Given the description of an element on the screen output the (x, y) to click on. 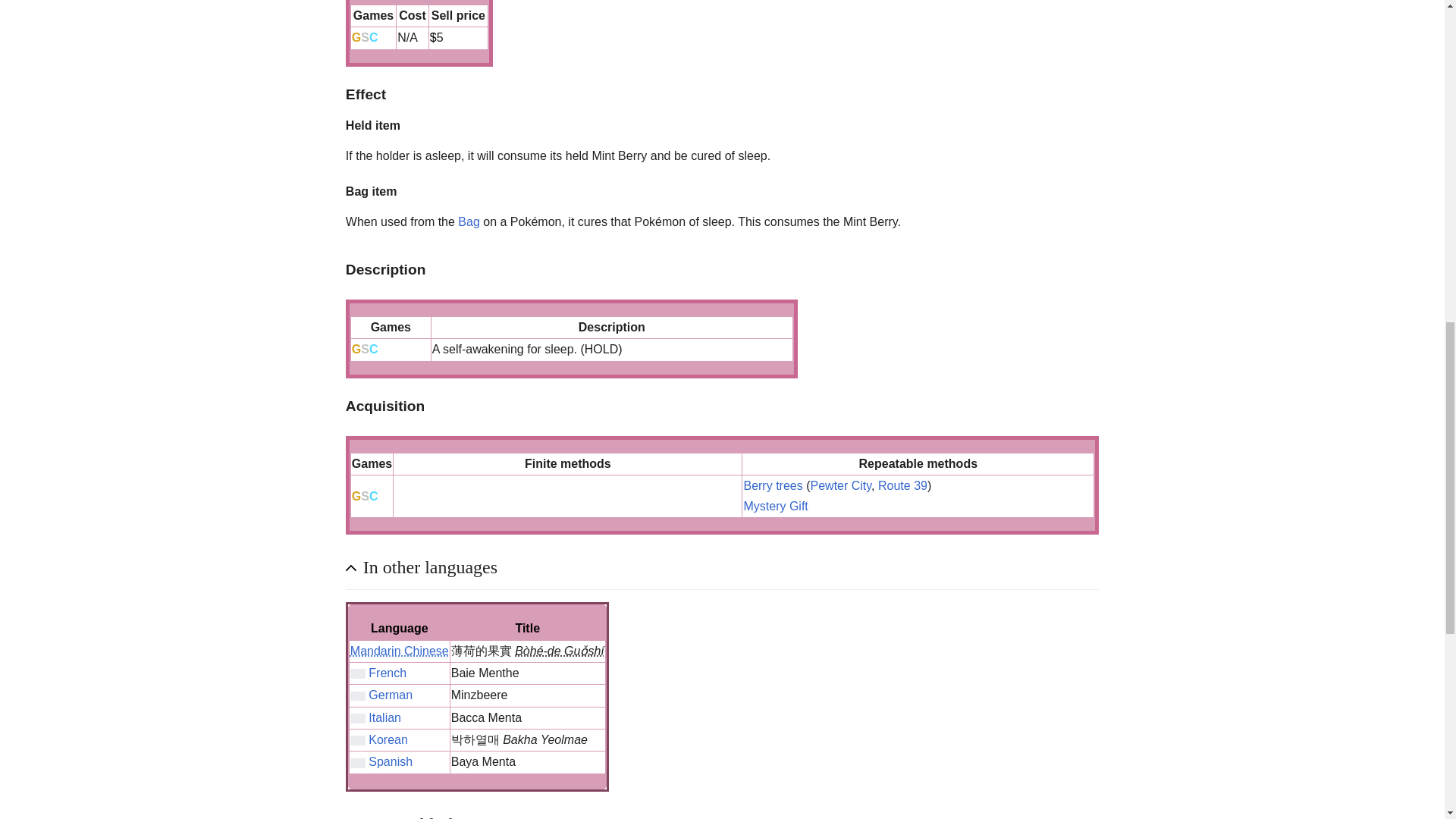
Bag (468, 221)
GS (360, 349)
Bag (468, 221)
GS (360, 37)
